Given the description of an element on the screen output the (x, y) to click on. 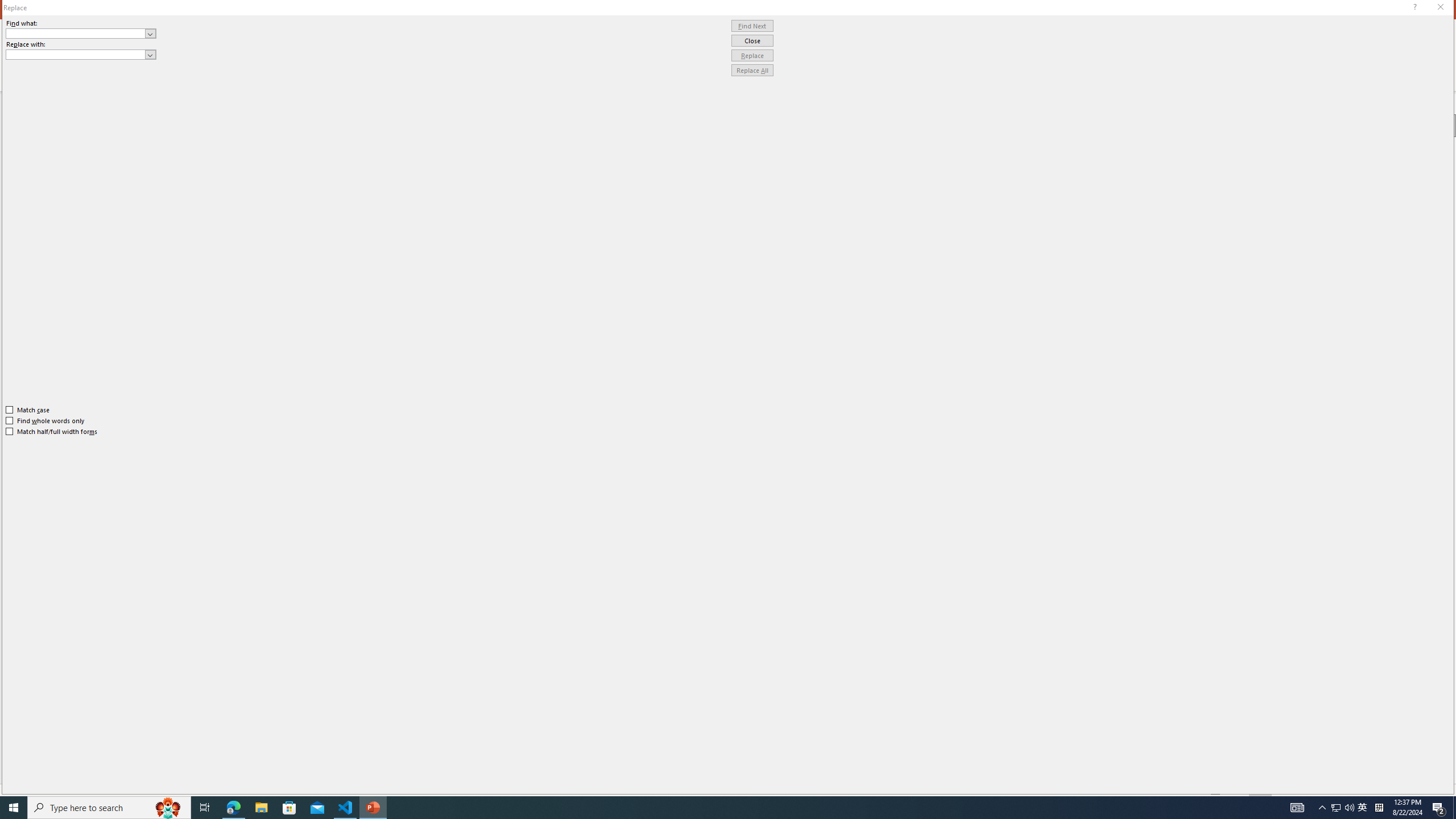
Class: NetUIGalleryContainer (1352, 126)
Replace with (75, 53)
